Given the description of an element on the screen output the (x, y) to click on. 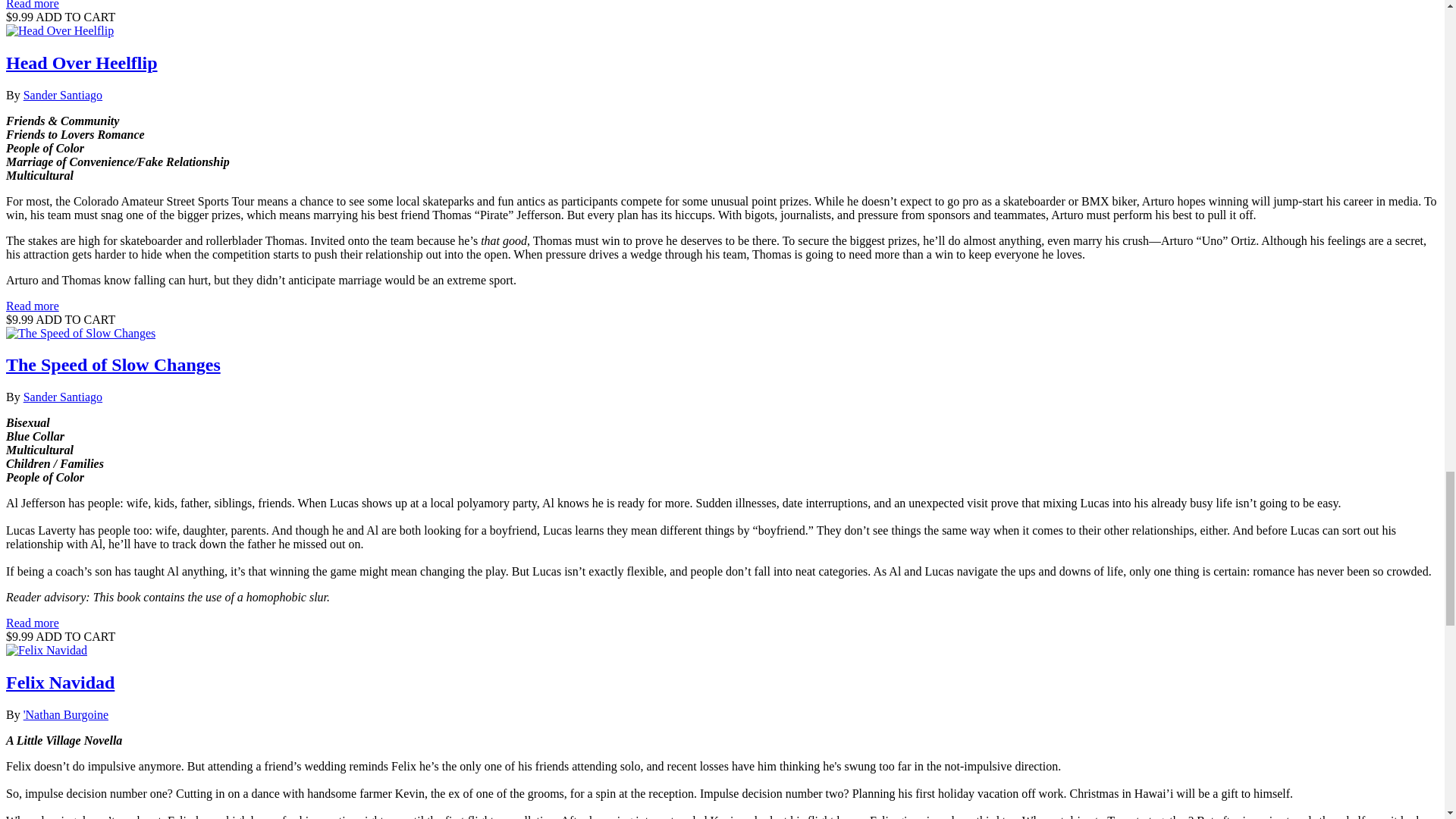
ADD TO CART (74, 635)
ADD TO CART (74, 318)
ADD TO CART (74, 16)
